Given the description of an element on the screen output the (x, y) to click on. 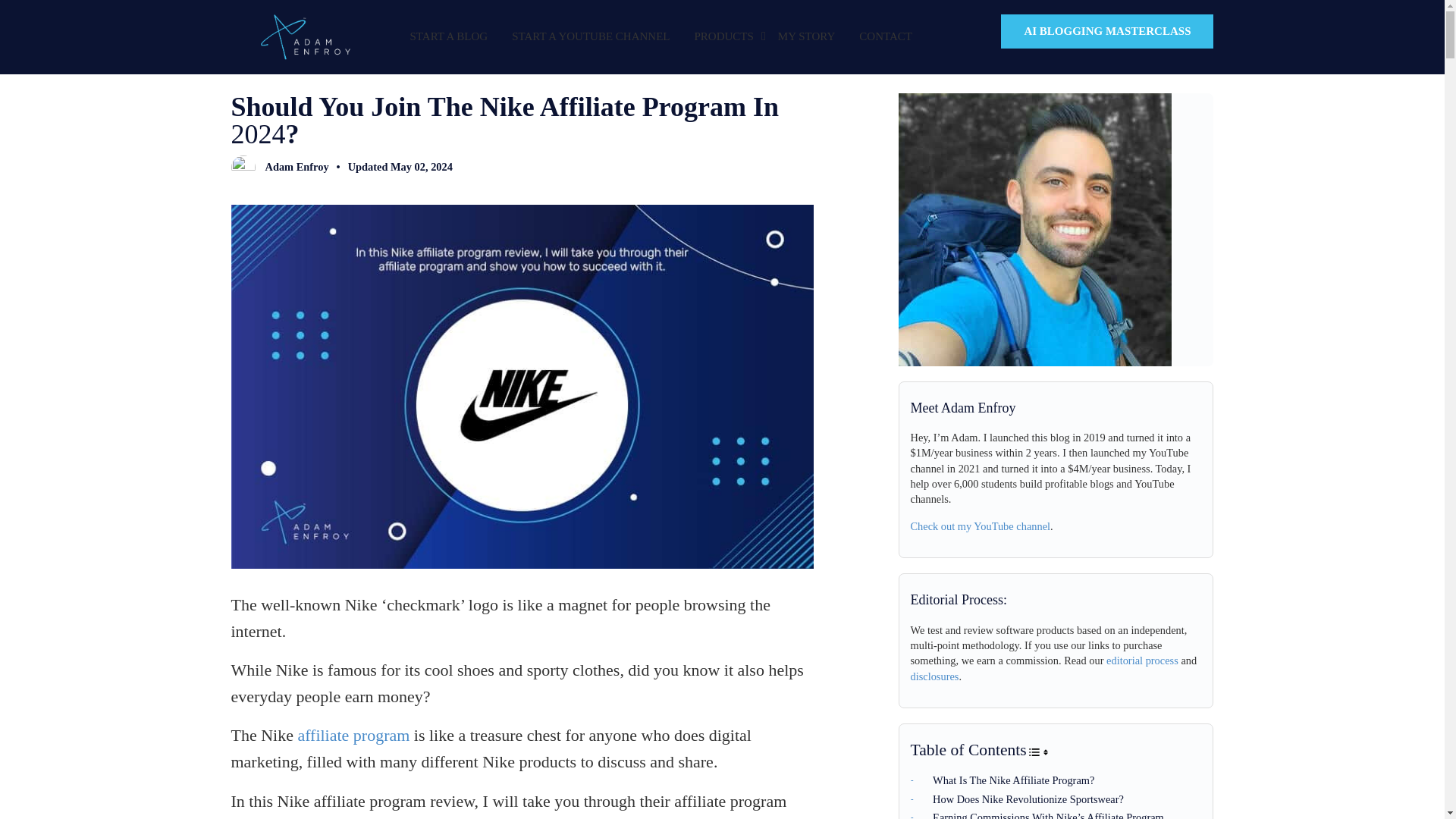
See more posts by Adam Enfroy (279, 170)
How Does Nike Revolutionize Sportswear? (1020, 799)
What Is The Nike Affiliate Program? (1005, 779)
START A YOUTUBE CHANNEL (590, 36)
Adam Enfroy (279, 170)
affiliate program (353, 734)
MY STORY (806, 36)
CONTACT (885, 36)
START A BLOG (448, 36)
AI BLOGGING MASTERCLASS (1106, 31)
PRODUCTS (723, 36)
